Given the description of an element on the screen output the (x, y) to click on. 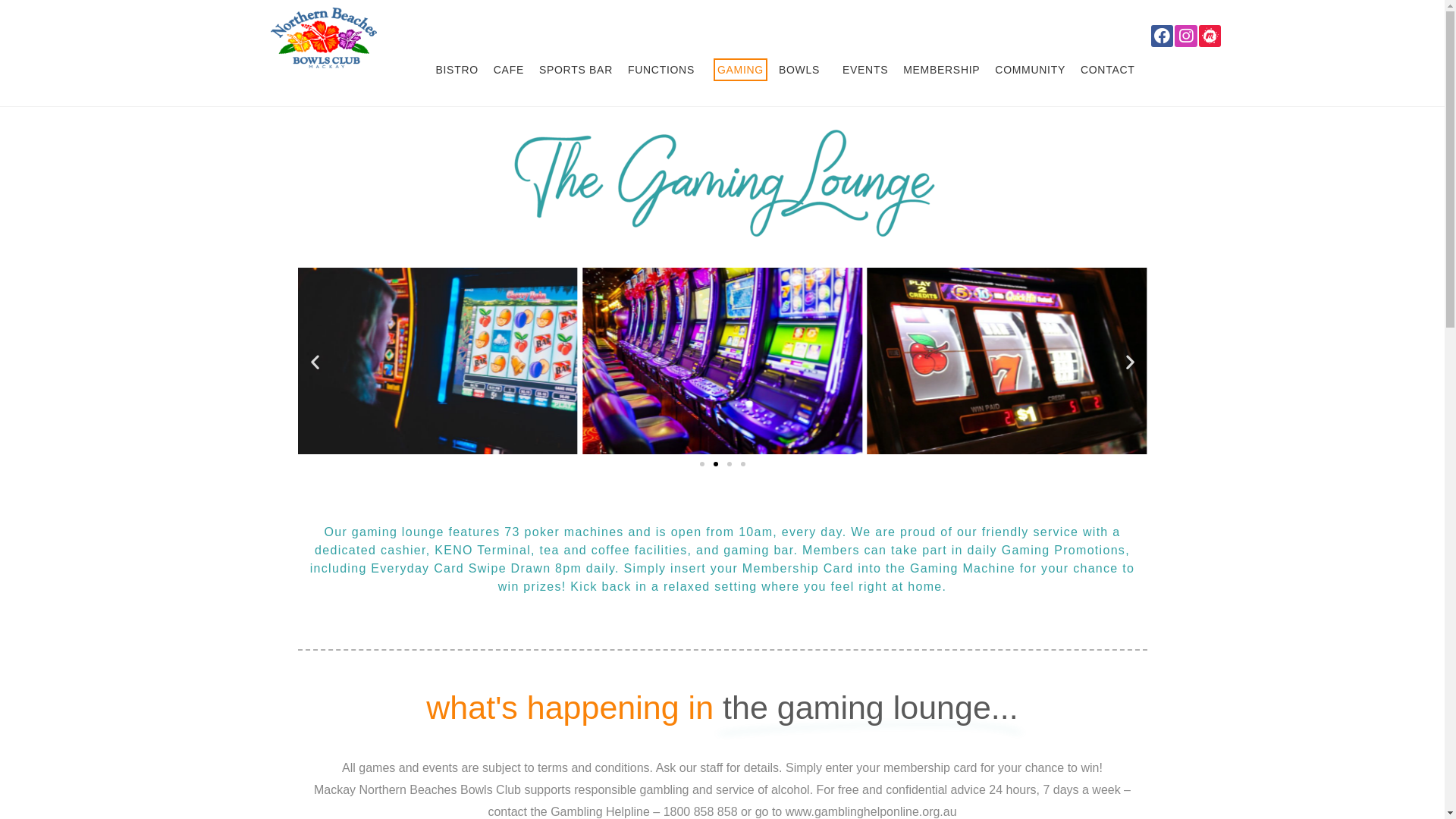
CAFE Element type: text (508, 69)
CONTACT Element type: text (1107, 69)
MEMBERSHIP Element type: text (941, 69)
FUNCTIONS Element type: text (665, 69)
COMMUNITY Element type: text (1030, 69)
Bowls Club in Mackay | Mackay Northern Beaches Bowls Club Element type: hover (323, 36)
BOWLS Element type: text (803, 69)
SPORTS BAR Element type: text (575, 69)
GAMING Element type: text (740, 69)
BISTRO Element type: text (456, 69)
EVENTS Element type: text (864, 69)
